Given the description of an element on the screen output the (x, y) to click on. 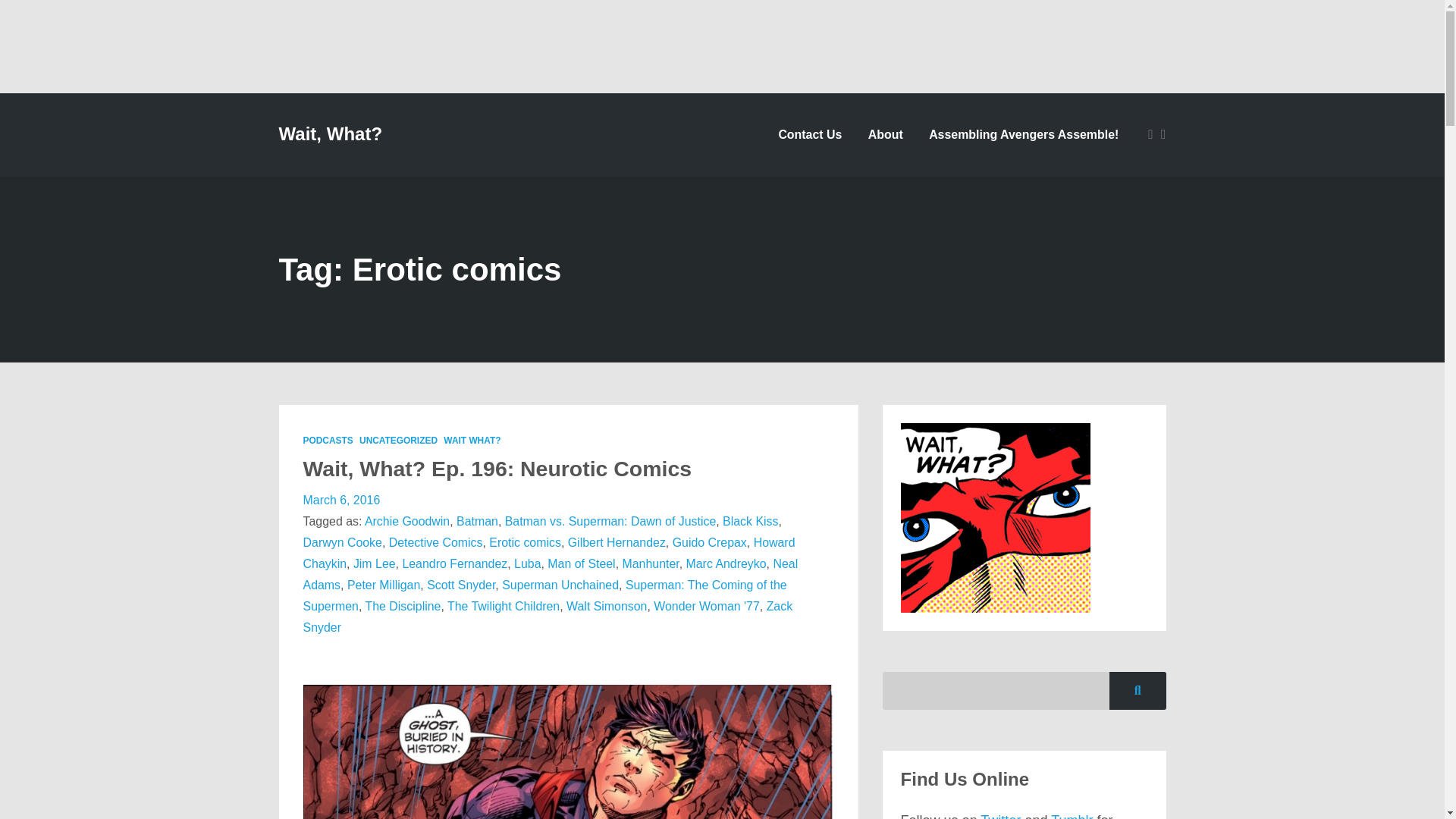
Detective Comics (435, 542)
Howard Chaykin (548, 553)
Black Kiss (749, 521)
Superman Unchained (560, 584)
Walt Simonson (606, 605)
Luba (526, 563)
Guido Crepax (709, 542)
Peter Milligan (383, 584)
Marc Andreyko (726, 563)
Erotic comics (524, 542)
Darwyn Cooke (341, 542)
Contact Us (810, 134)
Wait, What? (330, 134)
Permalink to Wait, What? Ep. 196: Neurotic Comics (496, 468)
Wait, What? Ep. 196: Neurotic Comics (496, 468)
